Given the description of an element on the screen output the (x, y) to click on. 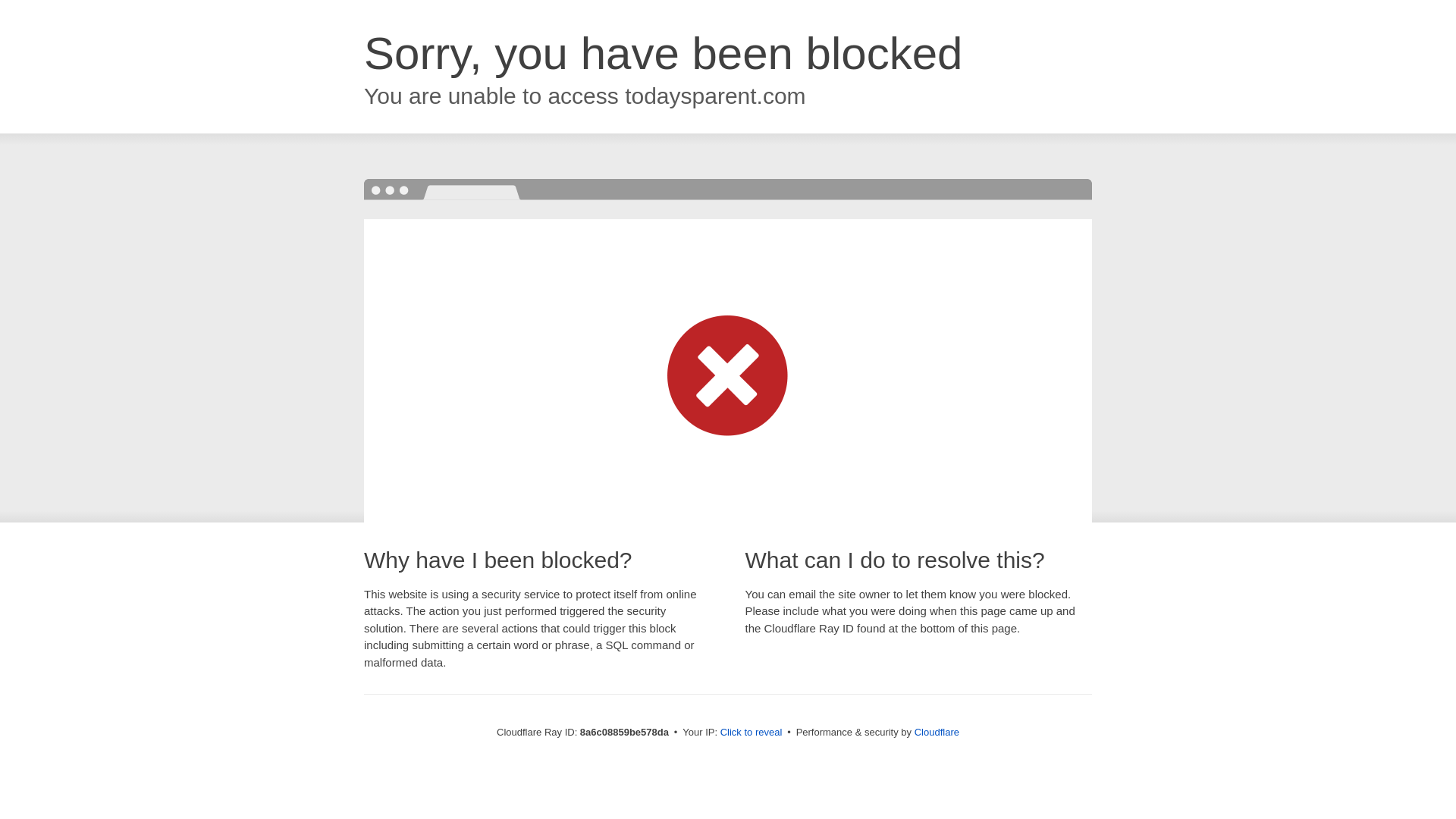
Cloudflare (936, 731)
Click to reveal (751, 732)
